Given the description of an element on the screen output the (x, y) to click on. 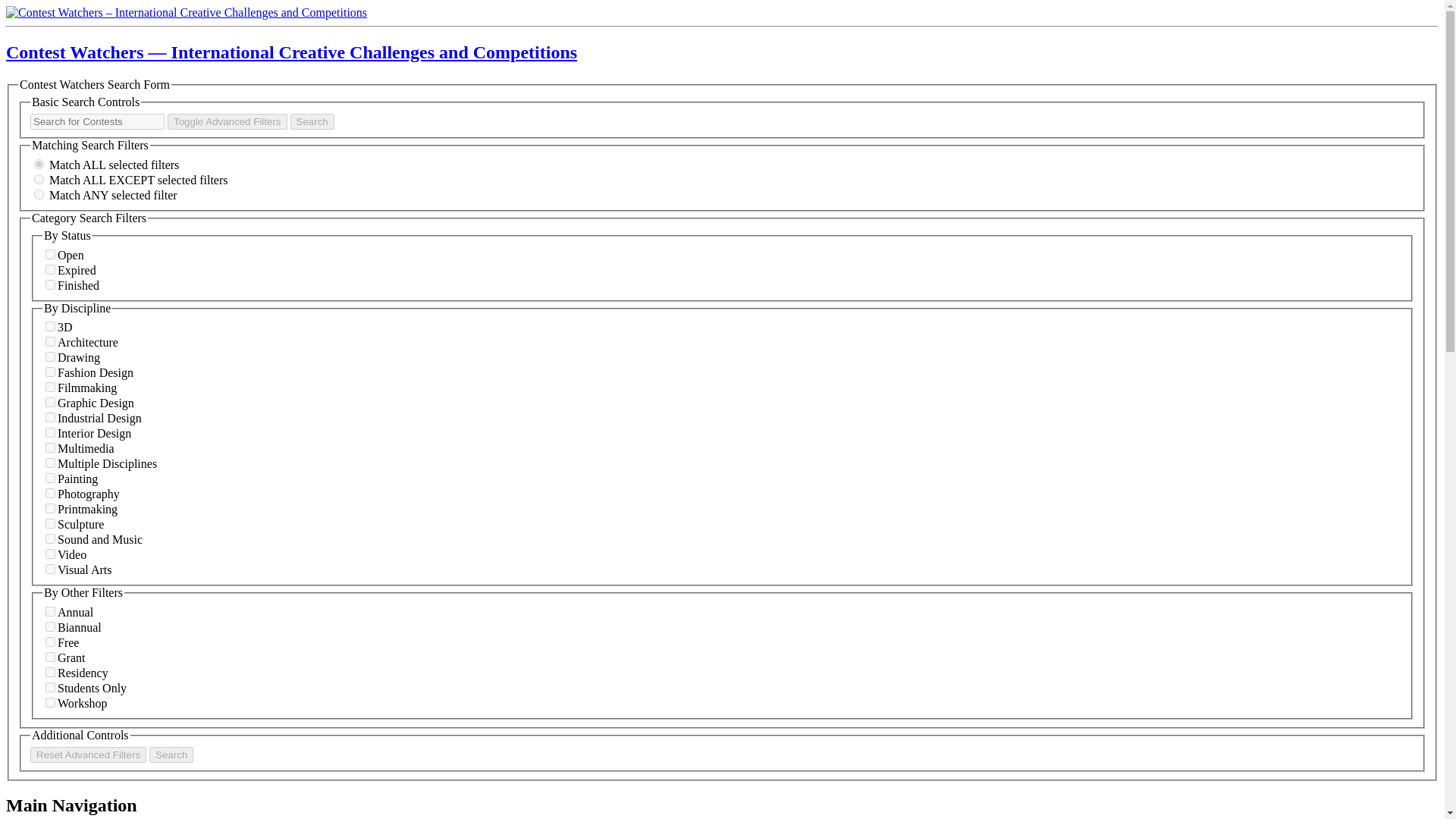
106 (50, 326)
119 (50, 341)
114 (50, 478)
2970 (50, 447)
Search (171, 754)
Toggle Advanced Filters (226, 121)
2966 (50, 462)
101 (50, 254)
any (38, 194)
121 (50, 508)
